Given the description of an element on the screen output the (x, y) to click on. 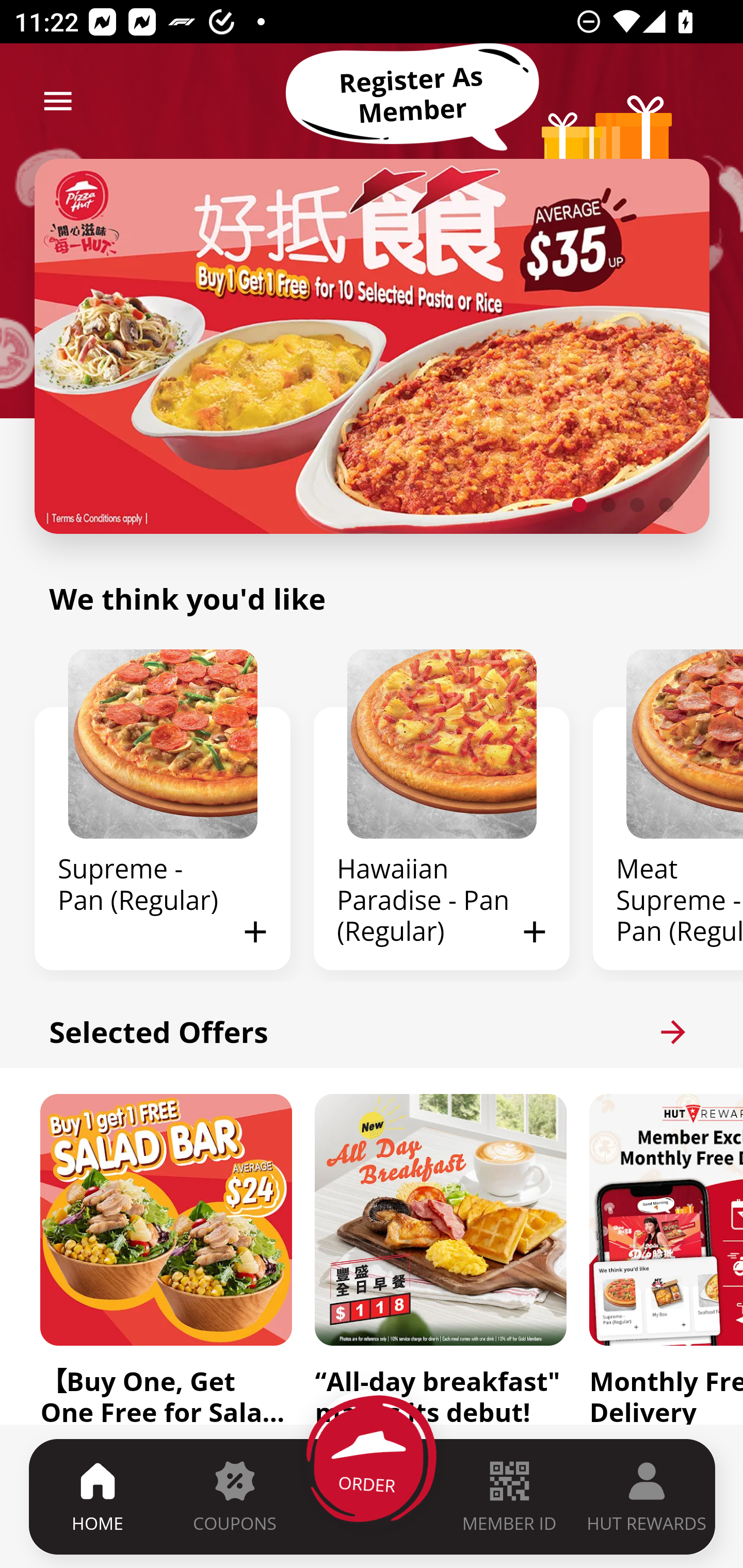
Register As Member (411, 95)
menu (58, 100)
arrow_forward (672, 1031)
HOME (97, 1496)
COUPONS (234, 1496)
ORDER (372, 1496)
MEMBER ID (509, 1496)
HUT REWARDS (647, 1496)
